Given the description of an element on the screen output the (x, y) to click on. 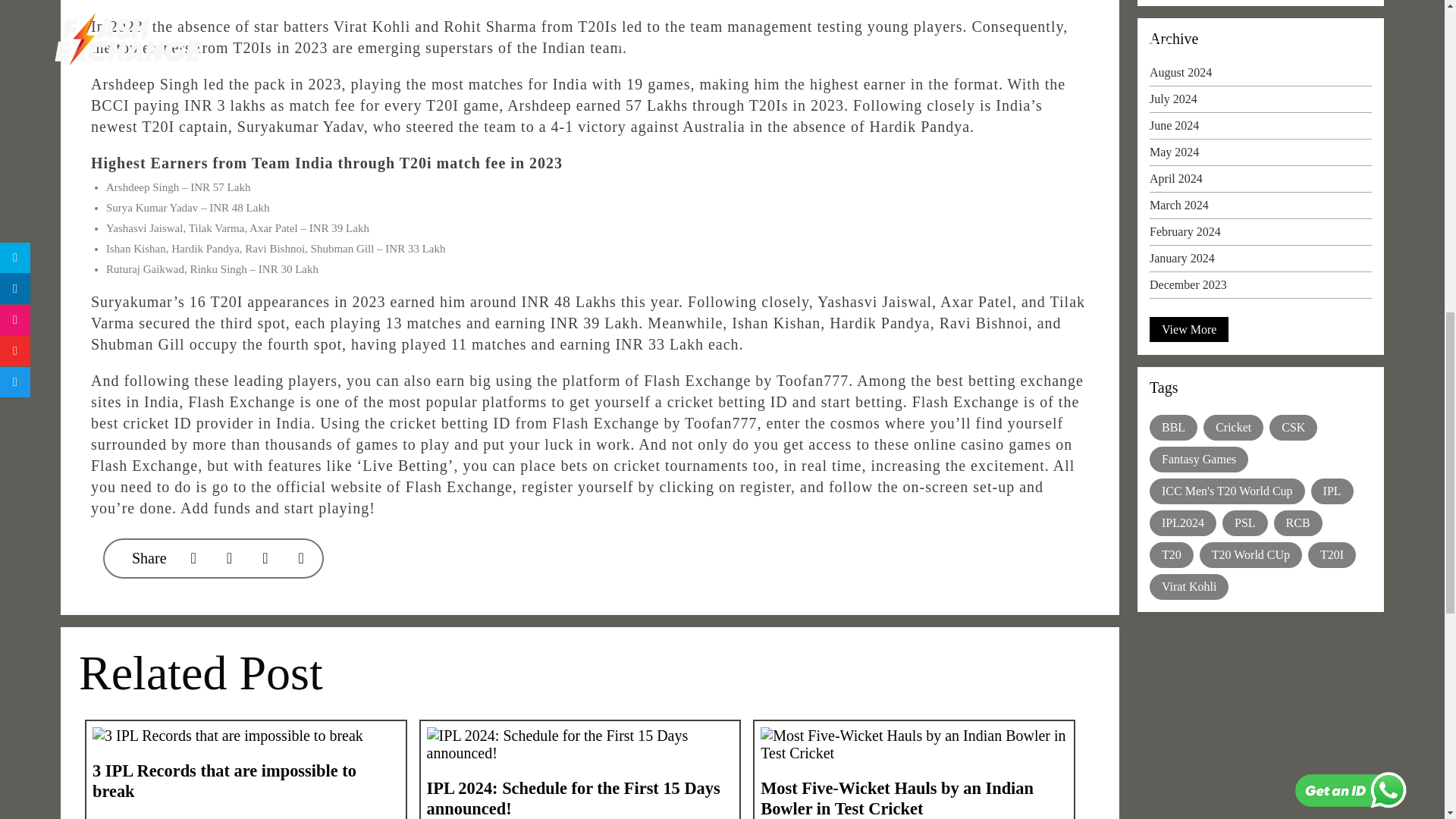
June 2024 (1260, 128)
May 2024 (1260, 155)
August 2024 (1260, 76)
July 2024 (1260, 102)
